Given the description of an element on the screen output the (x, y) to click on. 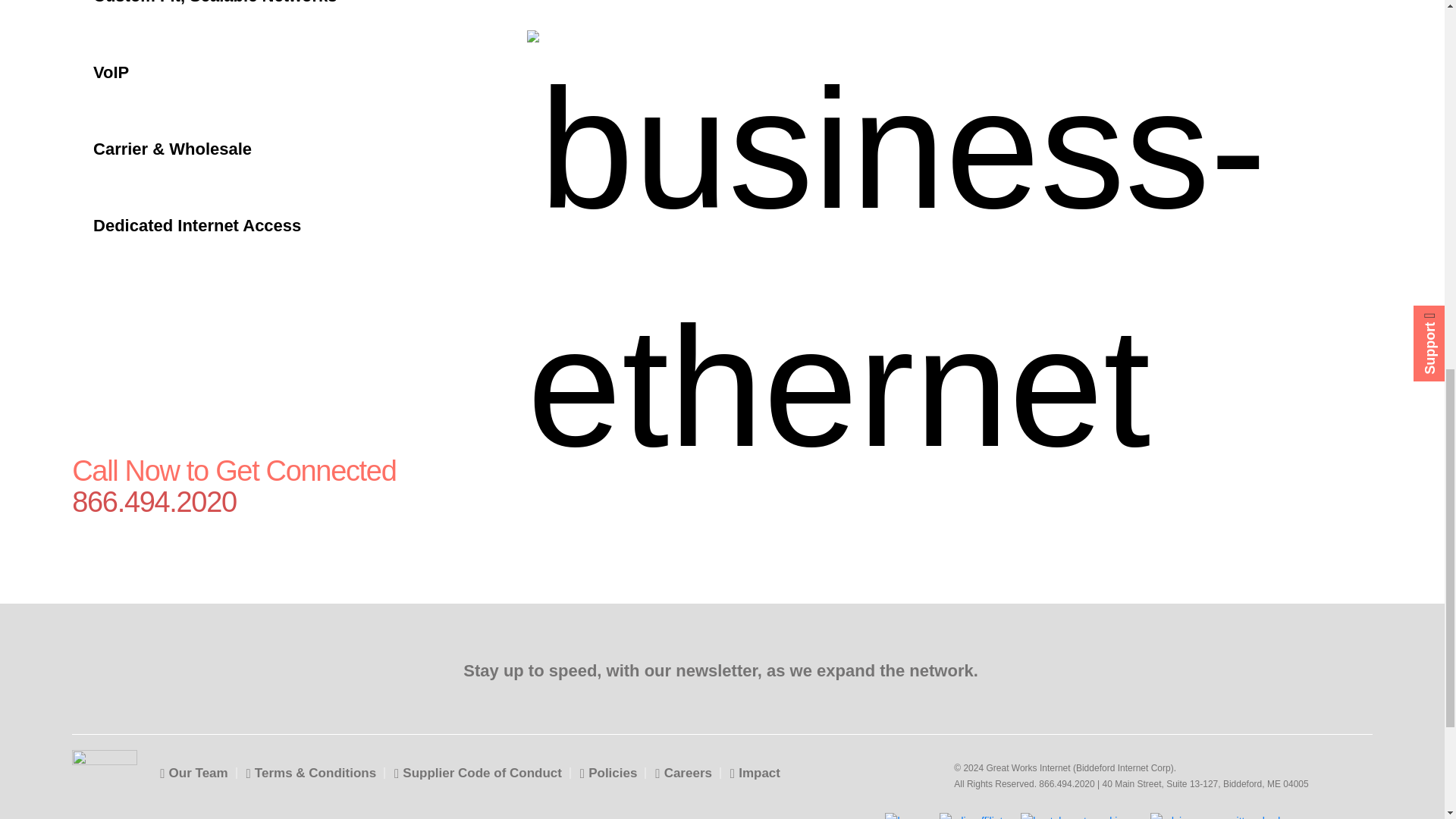
866.494.2020 (266, 502)
Careers (683, 772)
Custom Fit, Scalable Networks (247, 16)
Dedicated Internet Access (247, 225)
Policies (608, 772)
Our Team (193, 772)
Impact (754, 772)
Supplier Code of Conduct (478, 772)
VoIP (247, 72)
